Given the description of an element on the screen output the (x, y) to click on. 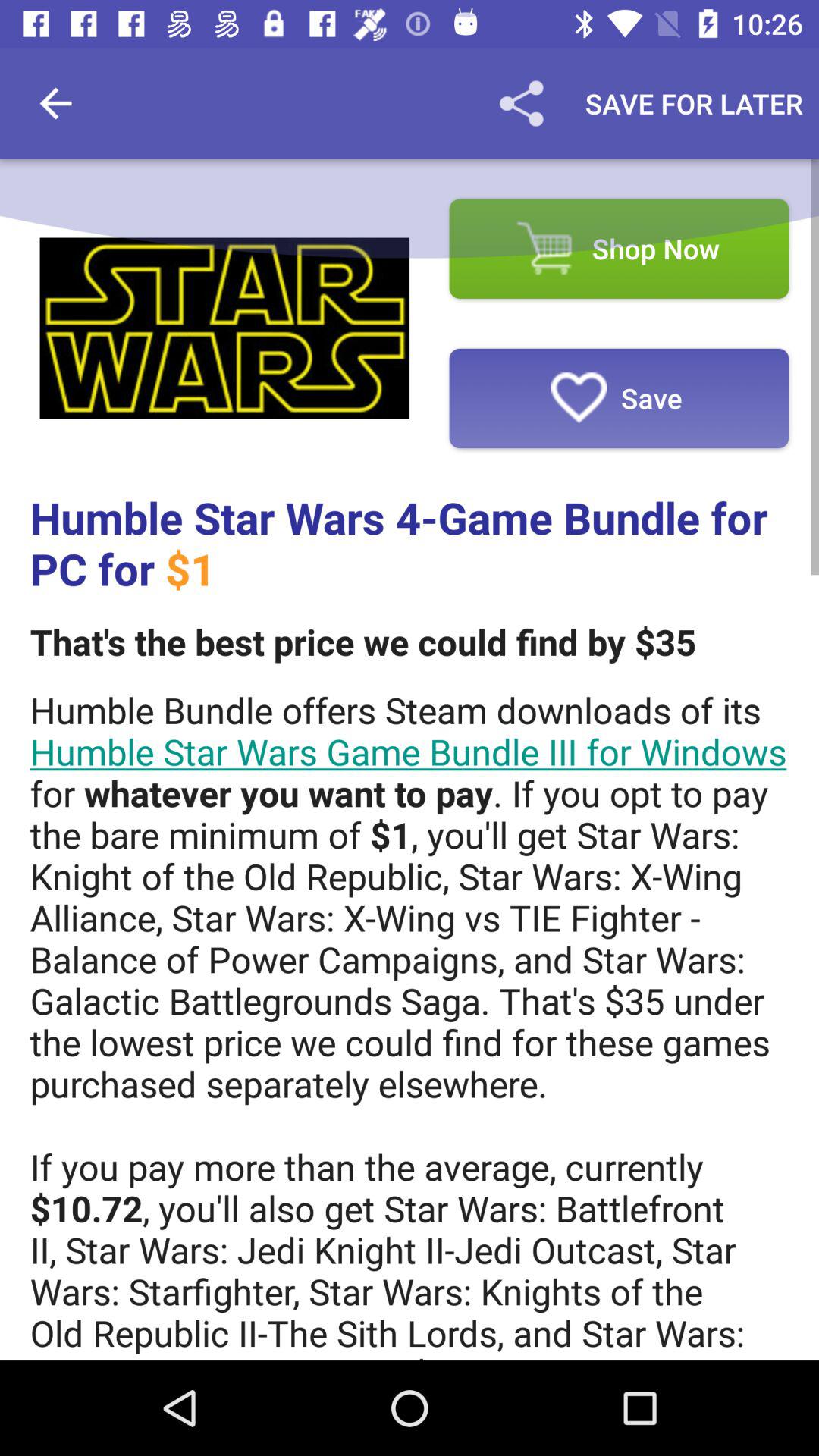
launch shop now item (618, 248)
